Given the description of an element on the screen output the (x, y) to click on. 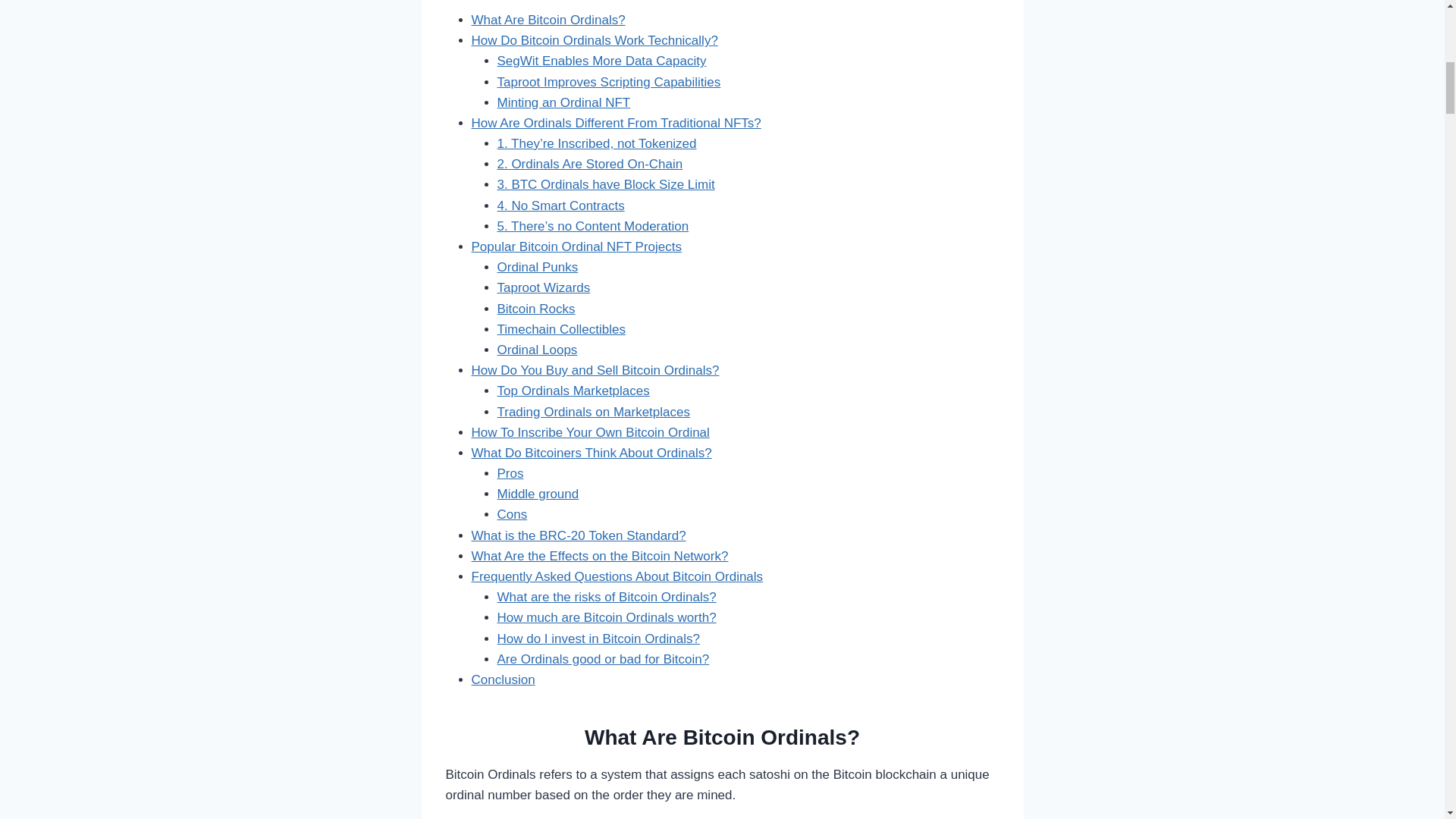
2. Ordinals Are Stored On-Chain (589, 164)
3. BTC Ordinals have Block Size Limit (605, 184)
How Do Bitcoin Ordinals Work Technically? (594, 40)
4. No Smart Contracts (560, 205)
SegWit Enables More Data Capacity (601, 60)
Timechain Collectibles (561, 329)
Bitcoin Rocks (536, 309)
Taproot Improves Scripting Capabilities (608, 81)
How Are Ordinals Different From Traditional NFTs? (616, 123)
Ordinal Punks (537, 267)
What Are Bitcoin Ordinals? (548, 20)
Minting an Ordinal NFT (563, 102)
Popular Bitcoin Ordinal NFT Projects (576, 246)
Taproot Wizards (544, 287)
